Given the description of an element on the screen output the (x, y) to click on. 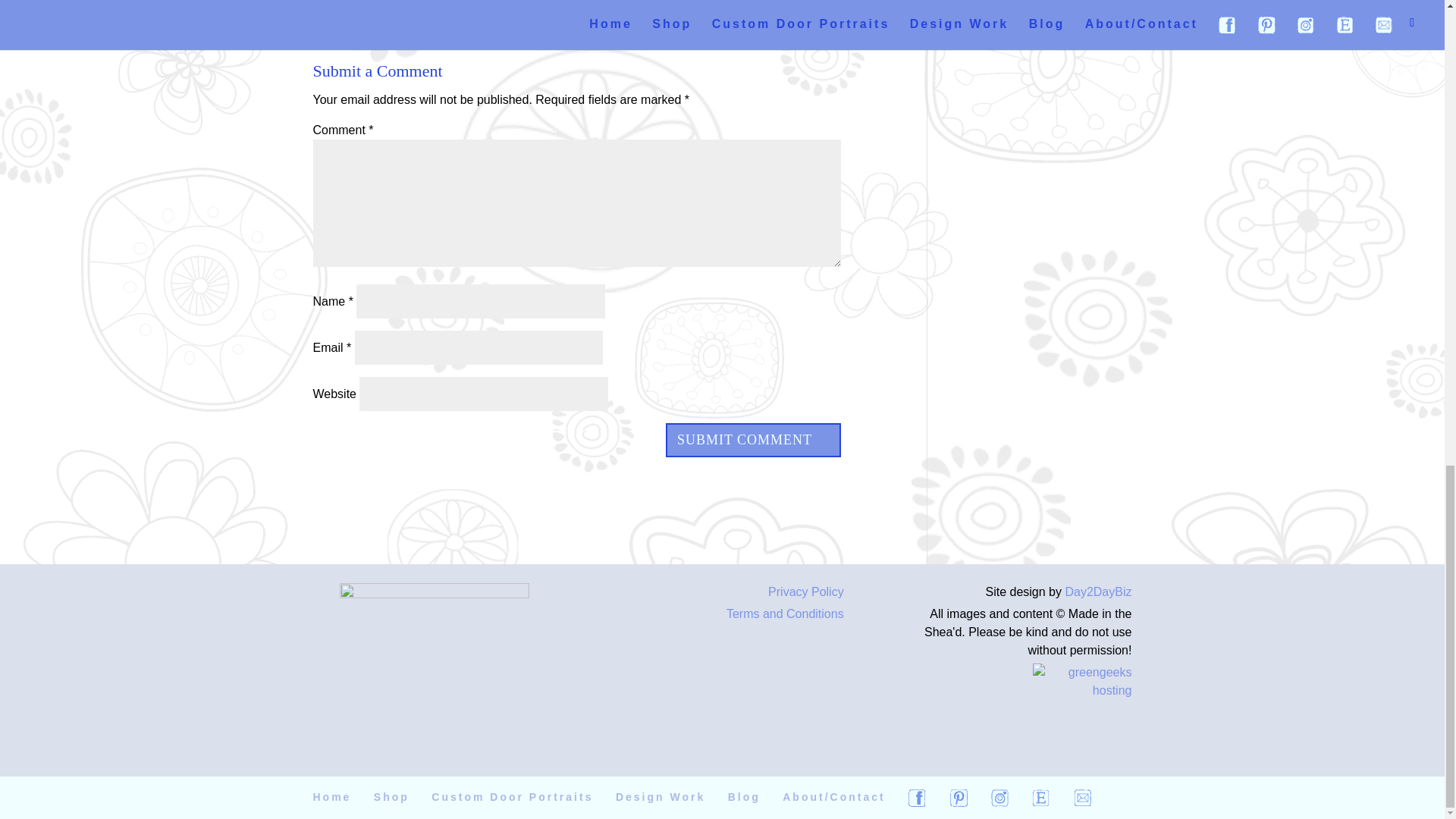
Email (1082, 797)
Home (331, 797)
Design Work (659, 797)
Custom Door Portraits (511, 797)
Terms and Conditions (785, 613)
Facebook (916, 797)
Etsy Shop (1039, 797)
Blog (744, 797)
Shop (391, 797)
Privacy Policy (806, 591)
Submit Comment (753, 440)
Submit Comment (753, 440)
Day2DayBiz (1097, 591)
Pinterest (958, 797)
